Given the description of an element on the screen output the (x, y) to click on. 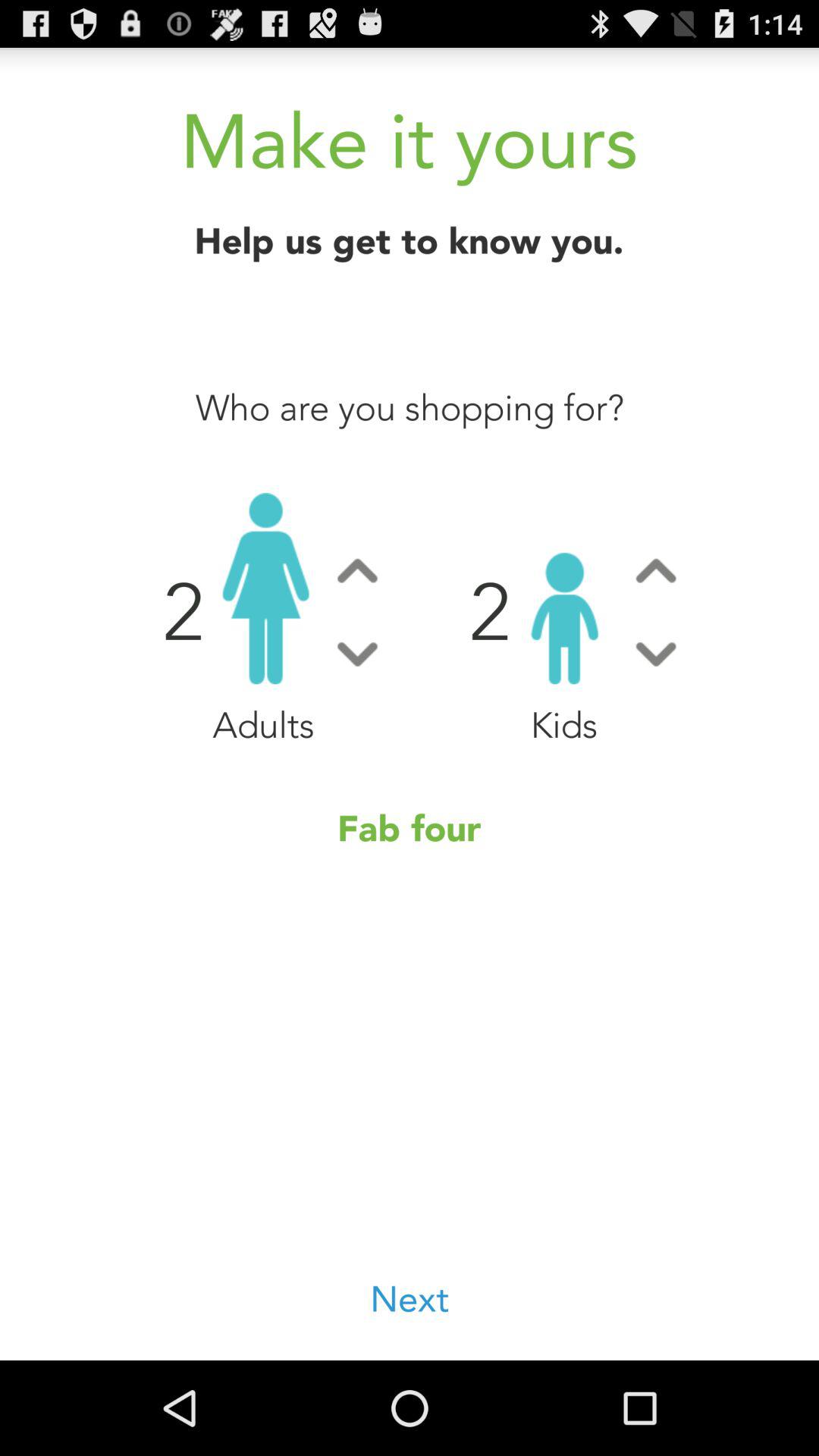
select item below the fab four icon (409, 1300)
